Given the description of an element on the screen output the (x, y) to click on. 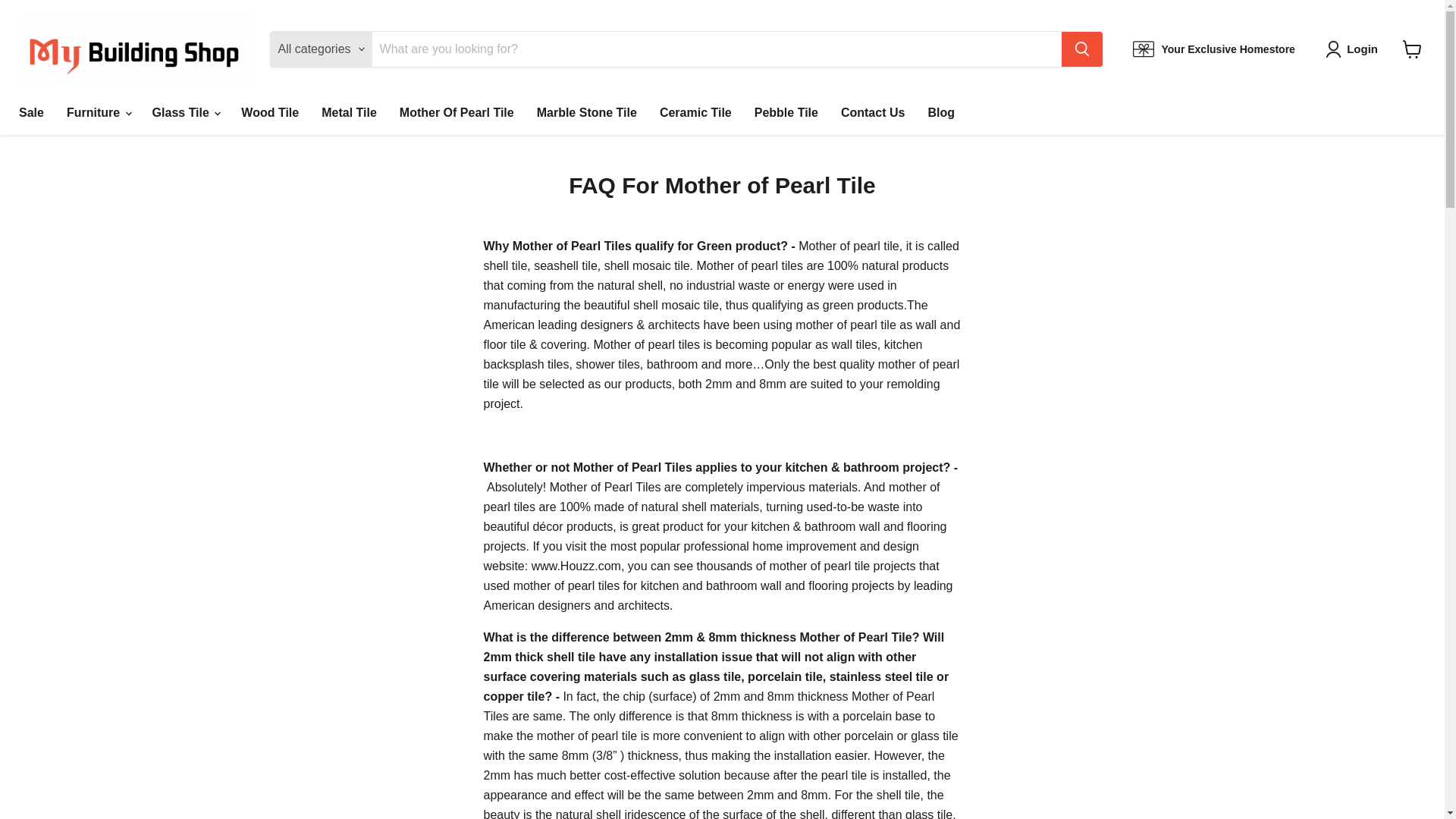
Wood Tile (270, 112)
View cart (1411, 49)
Mother Of Pearl Tile (456, 112)
Blog (940, 112)
Pebble Tile (785, 112)
Contact Us (872, 112)
Login (1354, 49)
Ceramic Tile (694, 112)
Metal Tile (349, 112)
Sale (31, 112)
Marble Stone Tile (586, 112)
